Given the description of an element on the screen output the (x, y) to click on. 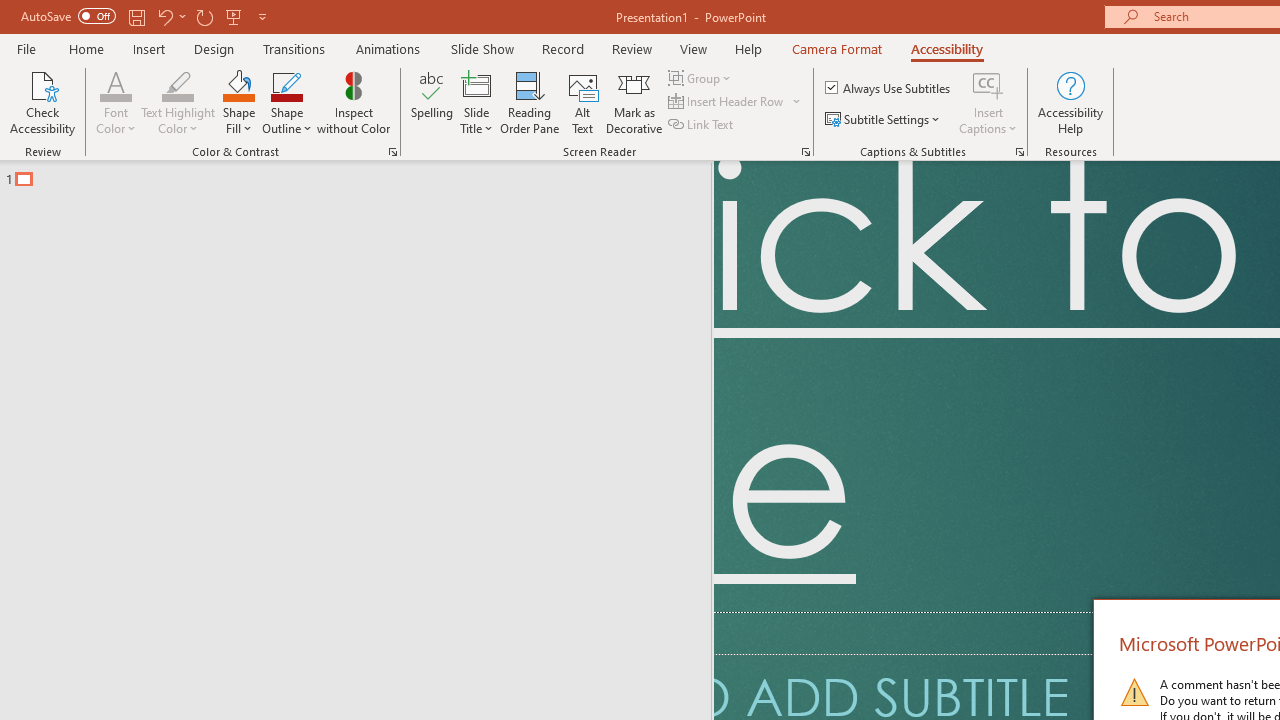
Camera Format (836, 48)
Mark as Decorative (634, 102)
Insert Header Row (735, 101)
Color & Contrast (392, 151)
Captions & Subtitles (1019, 151)
